Given the description of an element on the screen output the (x, y) to click on. 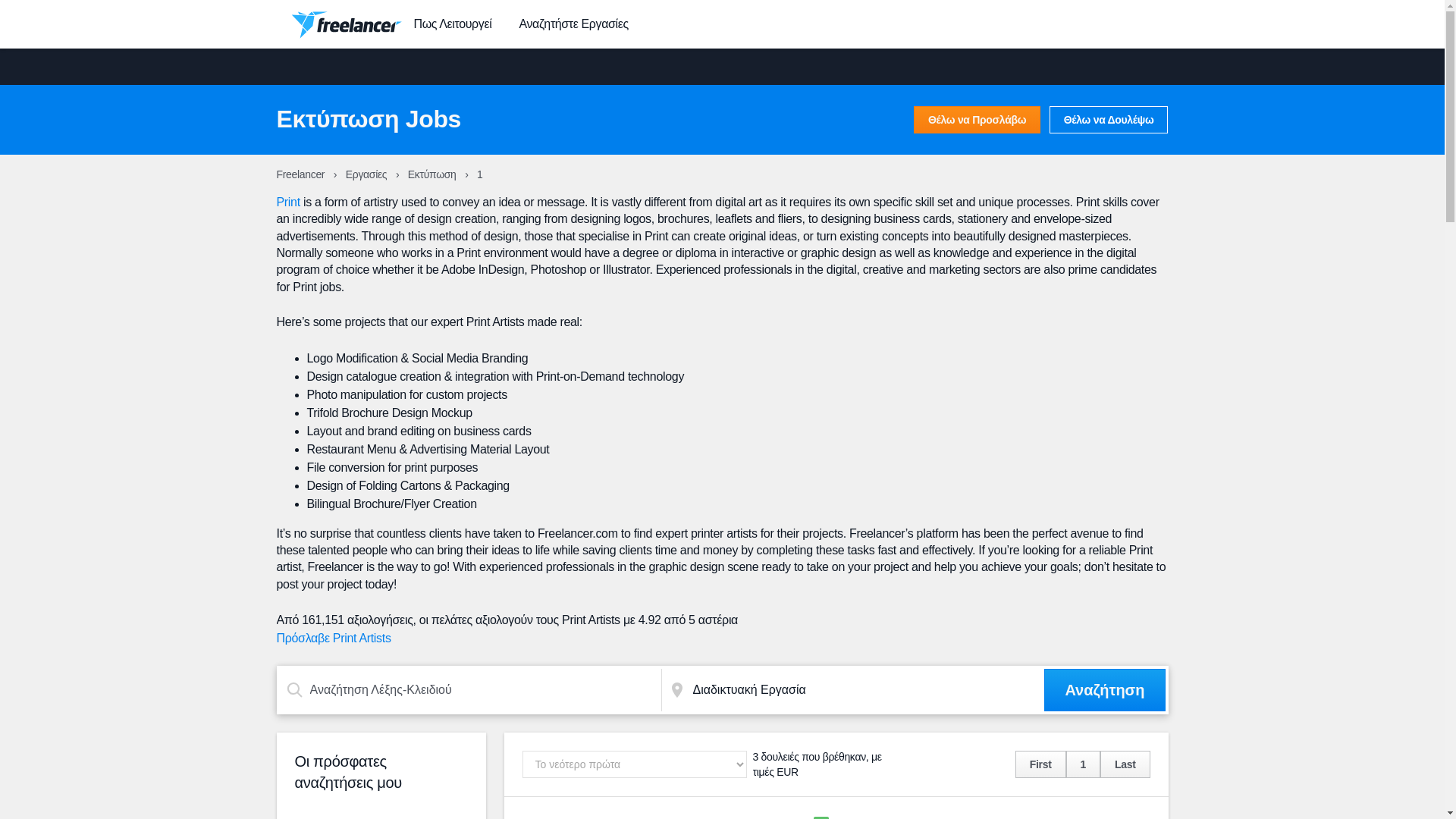
1 (1082, 764)
Print (287, 201)
Last (1125, 764)
First (1039, 764)
Freelancer (301, 174)
